Given the description of an element on the screen output the (x, y) to click on. 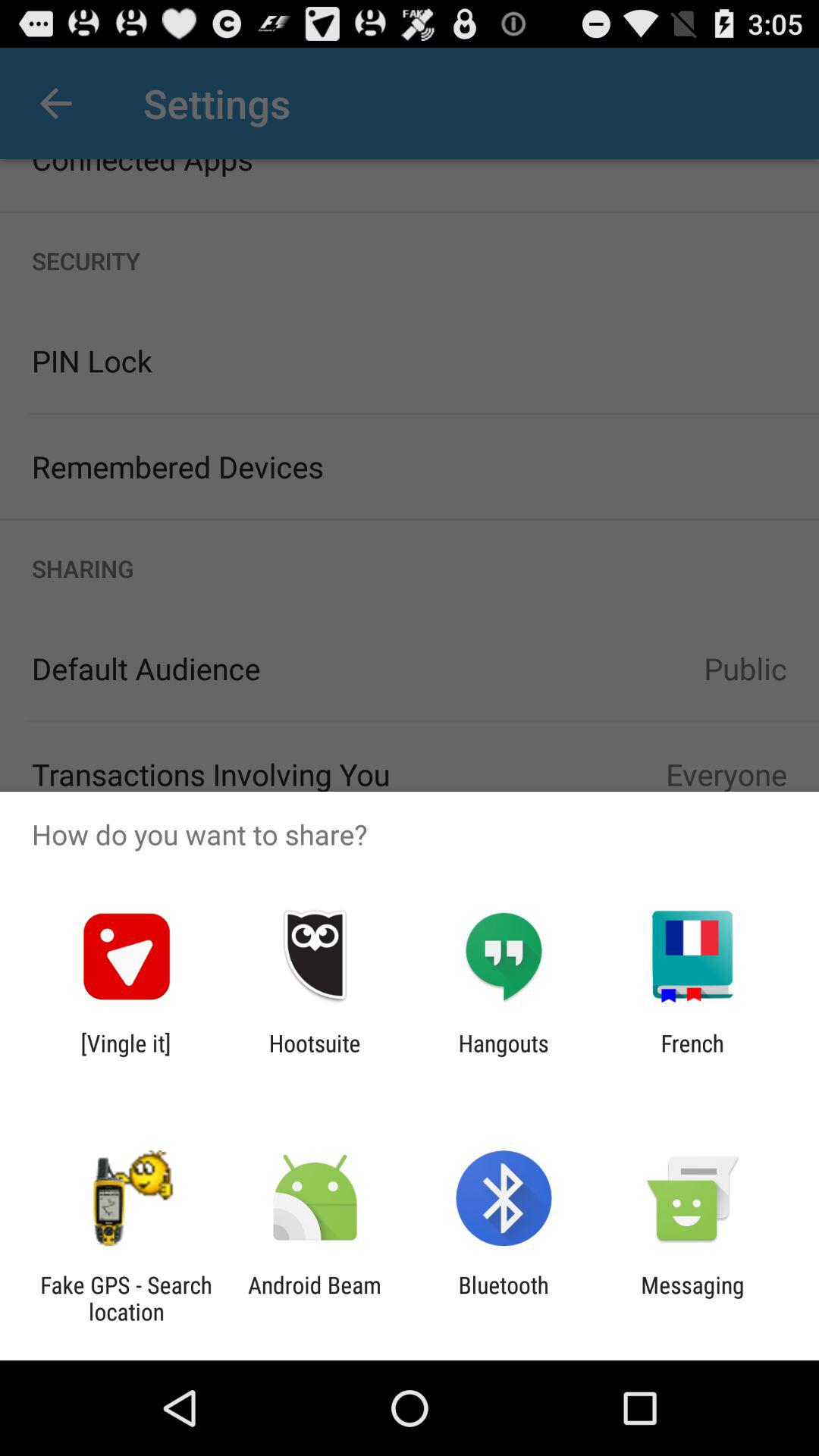
flip to [vingle it] (125, 1056)
